Given the description of an element on the screen output the (x, y) to click on. 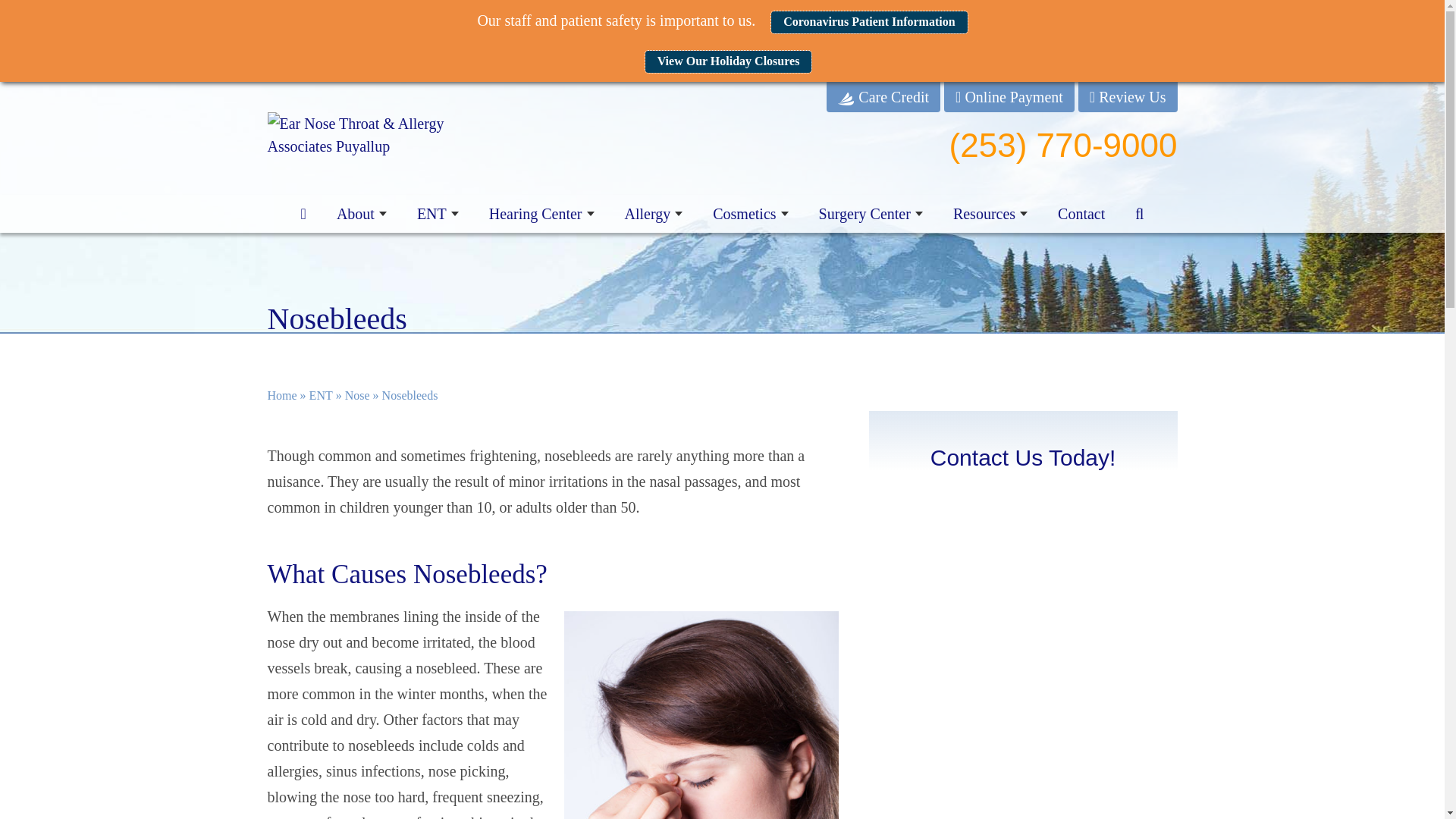
View Our Holiday Closures (728, 61)
About (361, 213)
ENT (437, 213)
Review Us (1127, 93)
Online Payment (1008, 93)
Coronavirus Patient Information (868, 22)
